Given the description of an element on the screen output the (x, y) to click on. 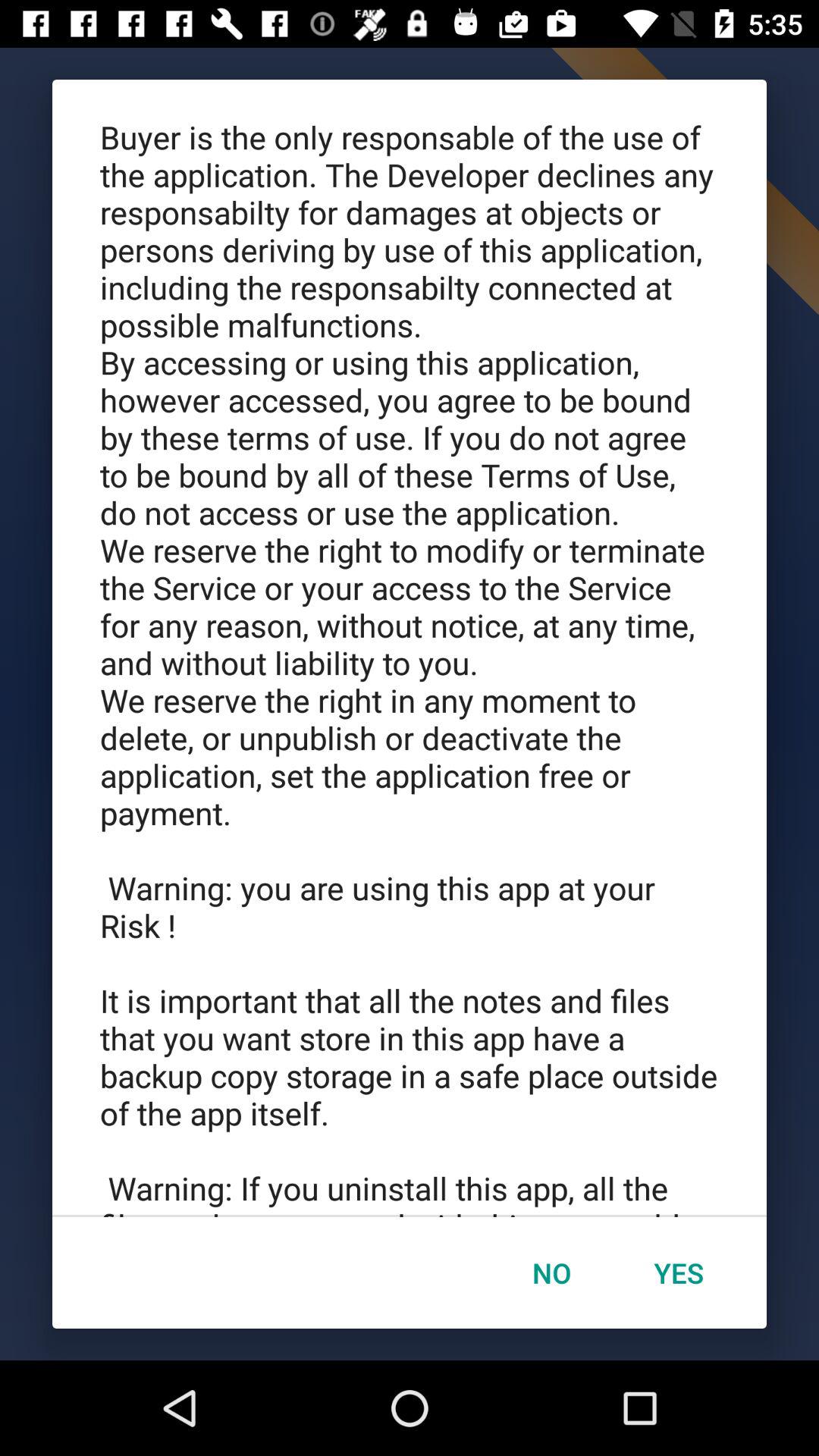
press item to the left of the yes (551, 1272)
